Given the description of an element on the screen output the (x, y) to click on. 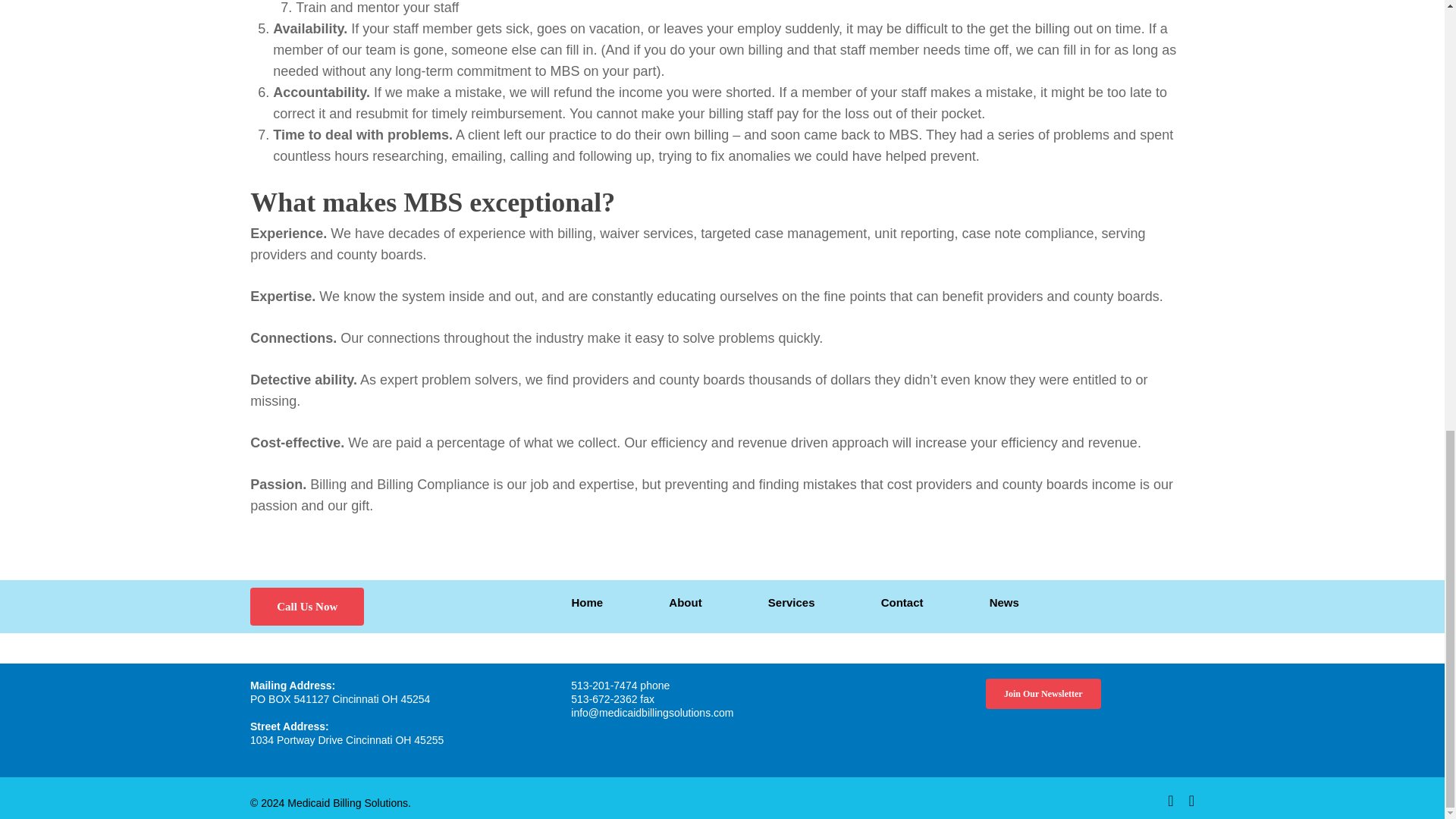
Contact (901, 602)
News (1004, 602)
About (684, 602)
Join Our Newsletter (1042, 693)
Services (791, 602)
Home (588, 602)
Call Us Now (307, 606)
